Given the description of an element on the screen output the (x, y) to click on. 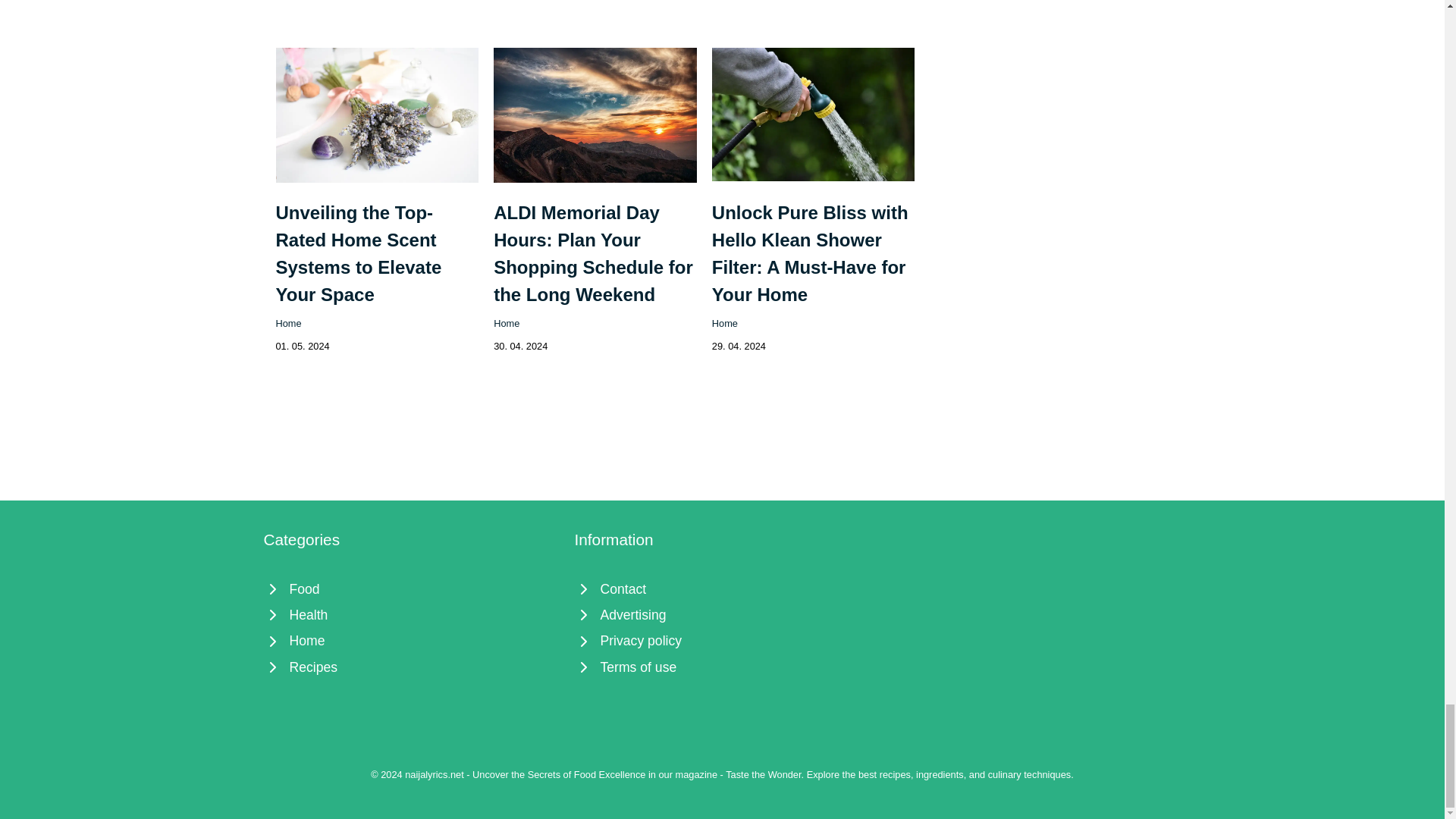
Health (411, 614)
Recipes (411, 667)
Home (411, 640)
Home (724, 323)
Food (411, 588)
Advertising (722, 614)
Privacy policy (722, 640)
Contact (722, 588)
